Given the description of an element on the screen output the (x, y) to click on. 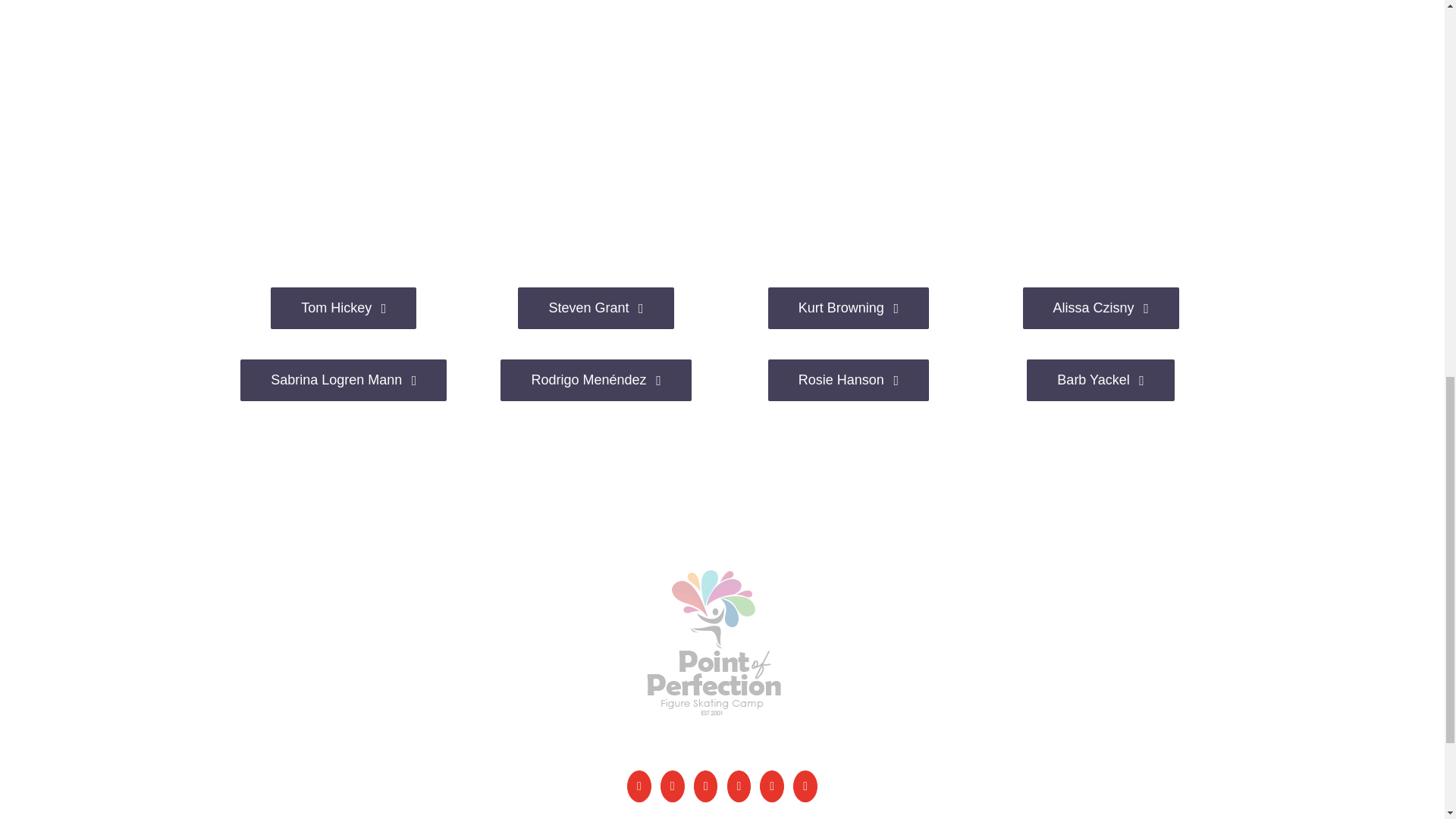
Barb Yackel (1100, 380)
Kurt Browning (848, 308)
Alissa Czisny (1101, 308)
Tom Hickey (343, 308)
Sabrina Logren Mann (343, 380)
Steven Grant (595, 308)
Rosie Hanson (848, 380)
